Given the description of an element on the screen output the (x, y) to click on. 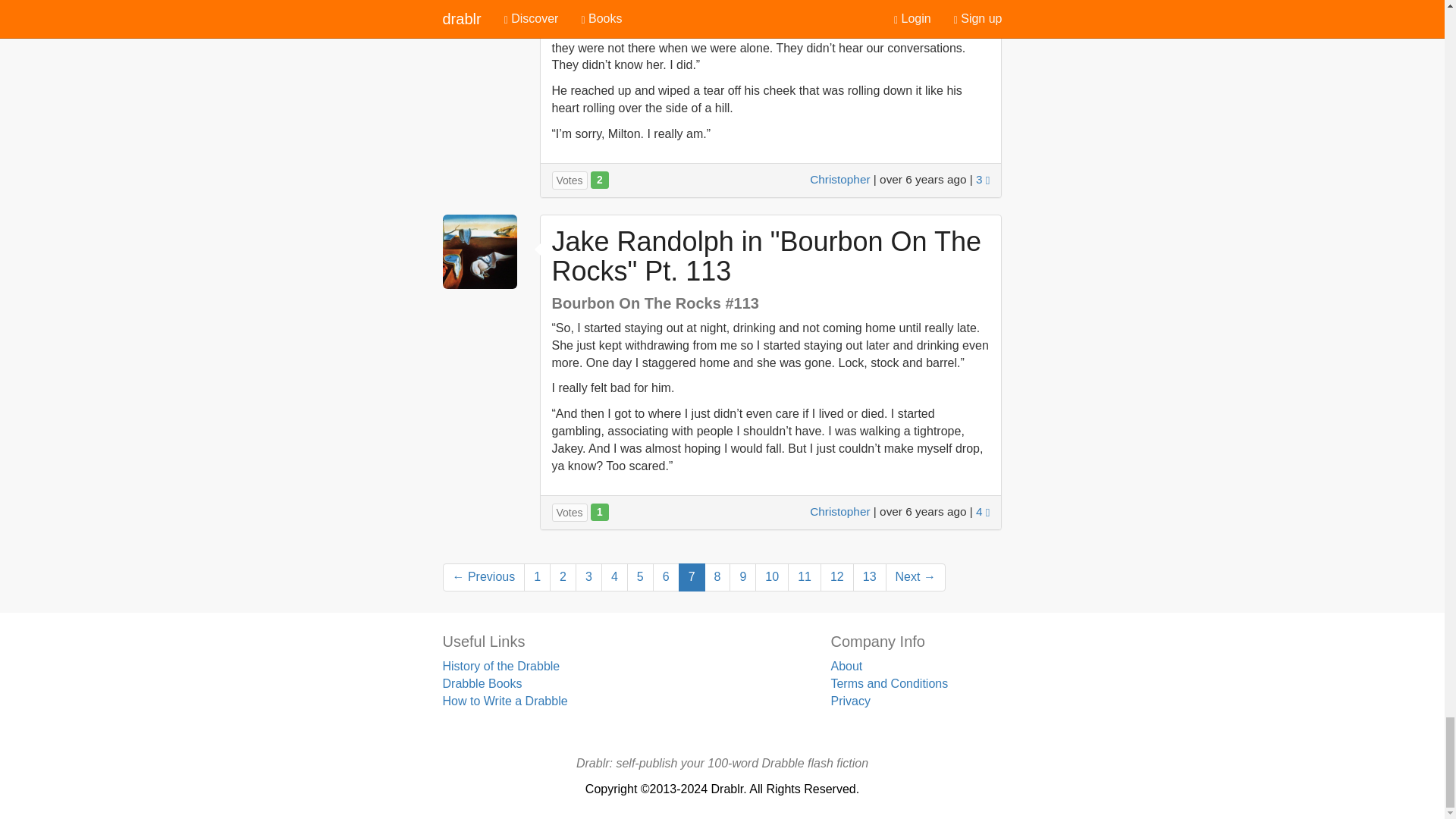
Comments (982, 511)
Comments (982, 178)
